Given the description of an element on the screen output the (x, y) to click on. 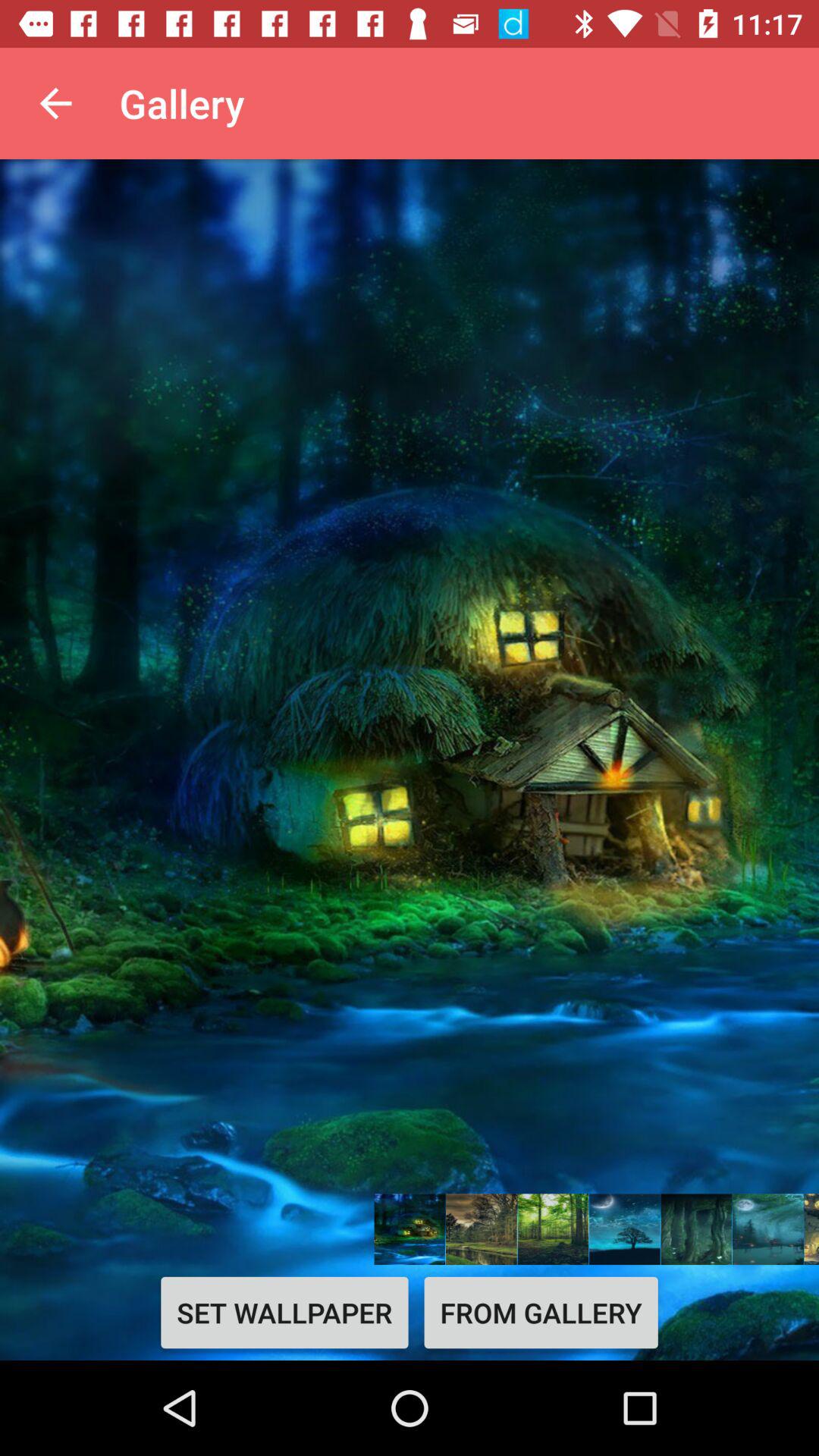
swipe to set wallpaper (284, 1312)
